Given the description of an element on the screen output the (x, y) to click on. 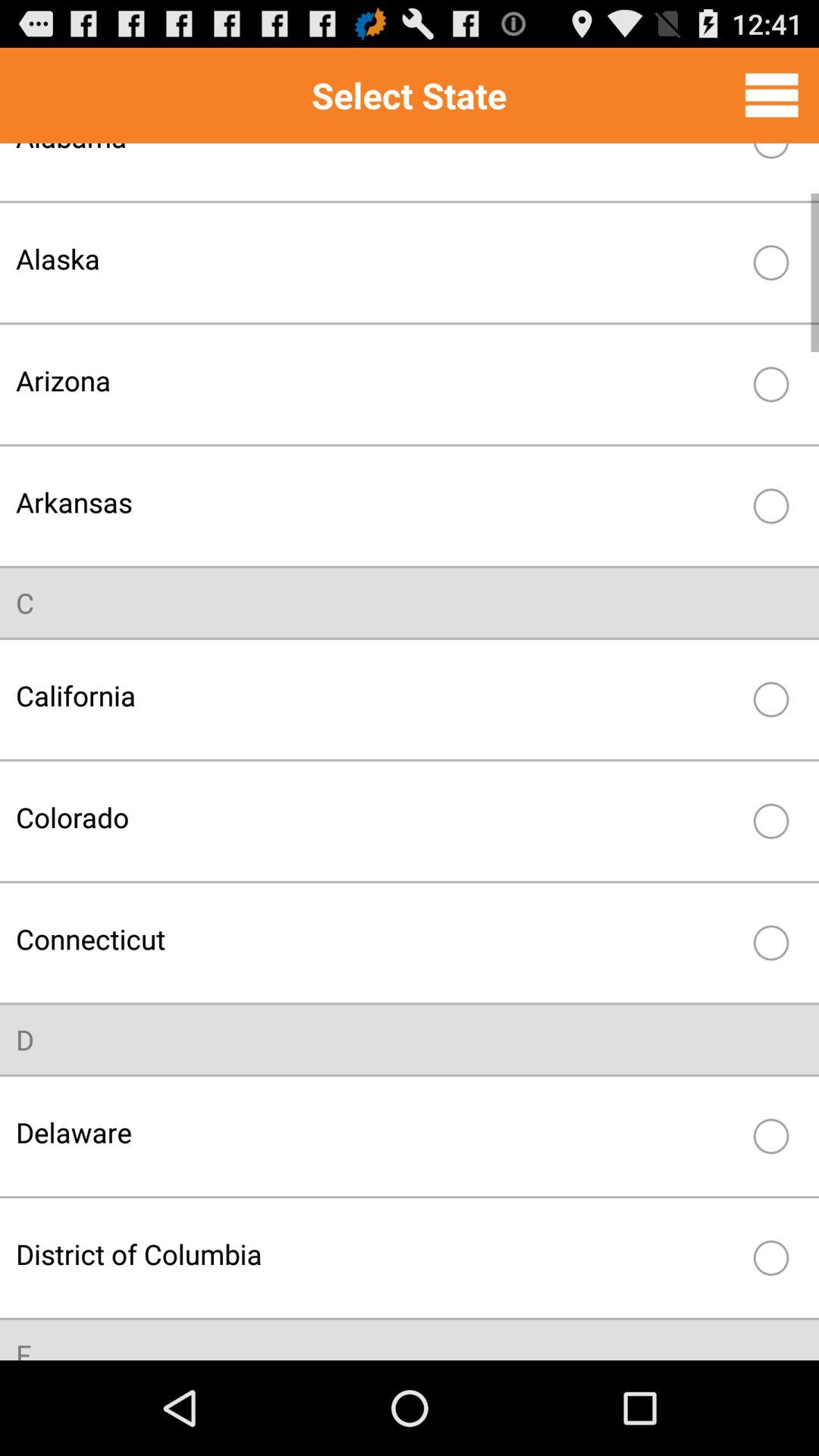
tap icon below connecticut icon (24, 1039)
